Given the description of an element on the screen output the (x, y) to click on. 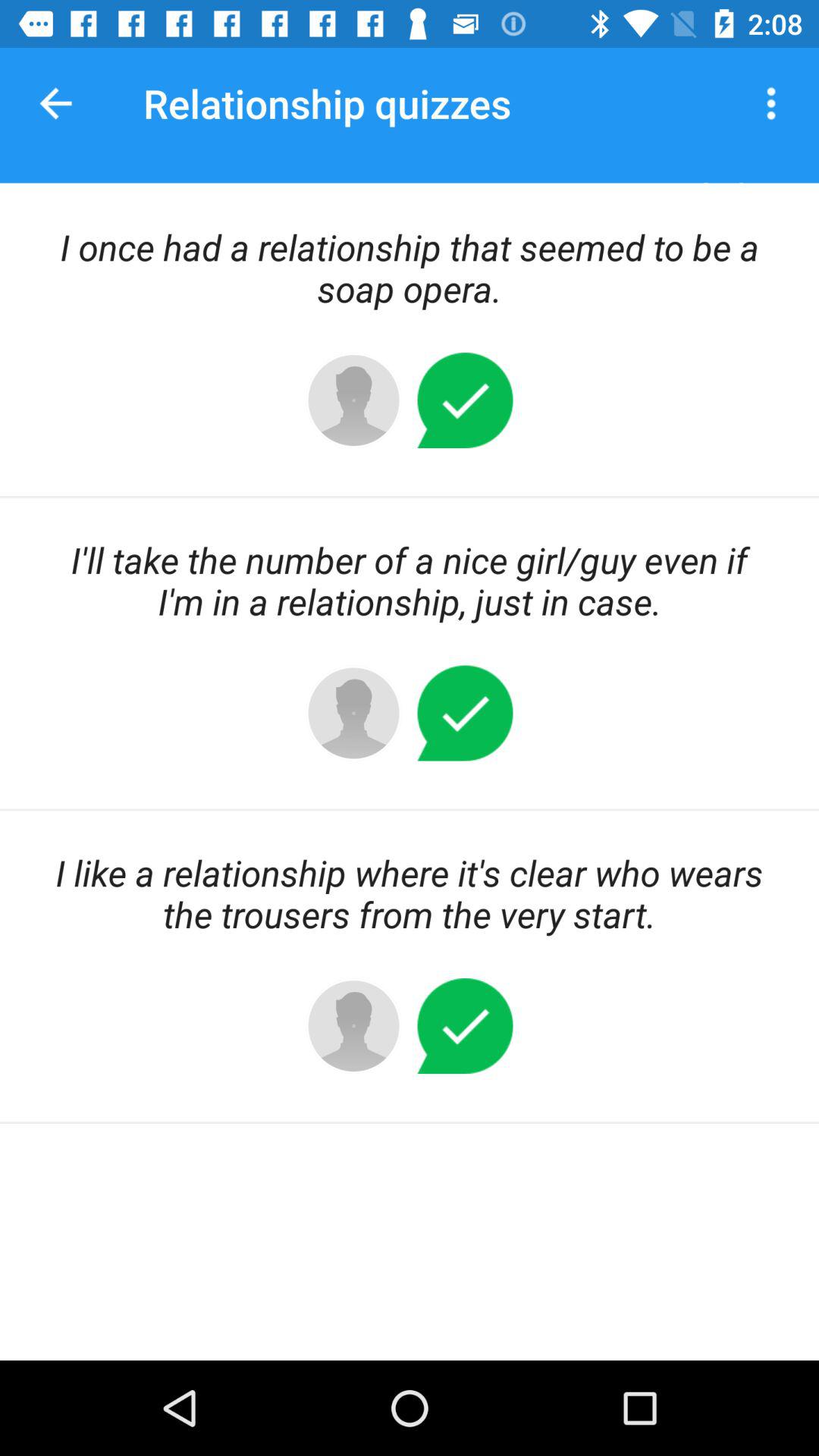
click on the profile icon which is below the text i once had a relationship that seemed to be a soap opera (354, 400)
select center left button (354, 713)
